Given the description of an element on the screen output the (x, y) to click on. 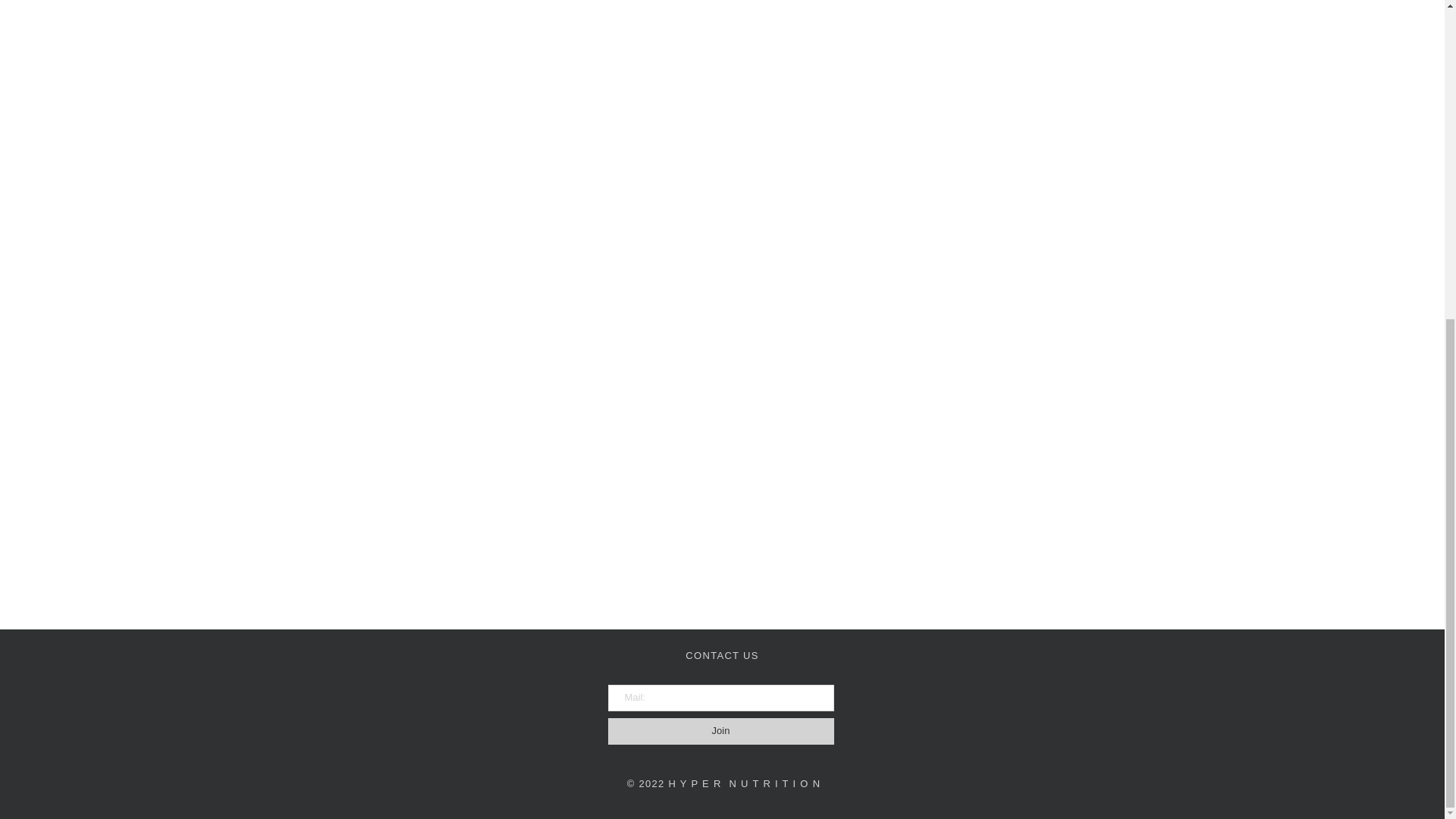
Join (721, 731)
